Given the description of an element on the screen output the (x, y) to click on. 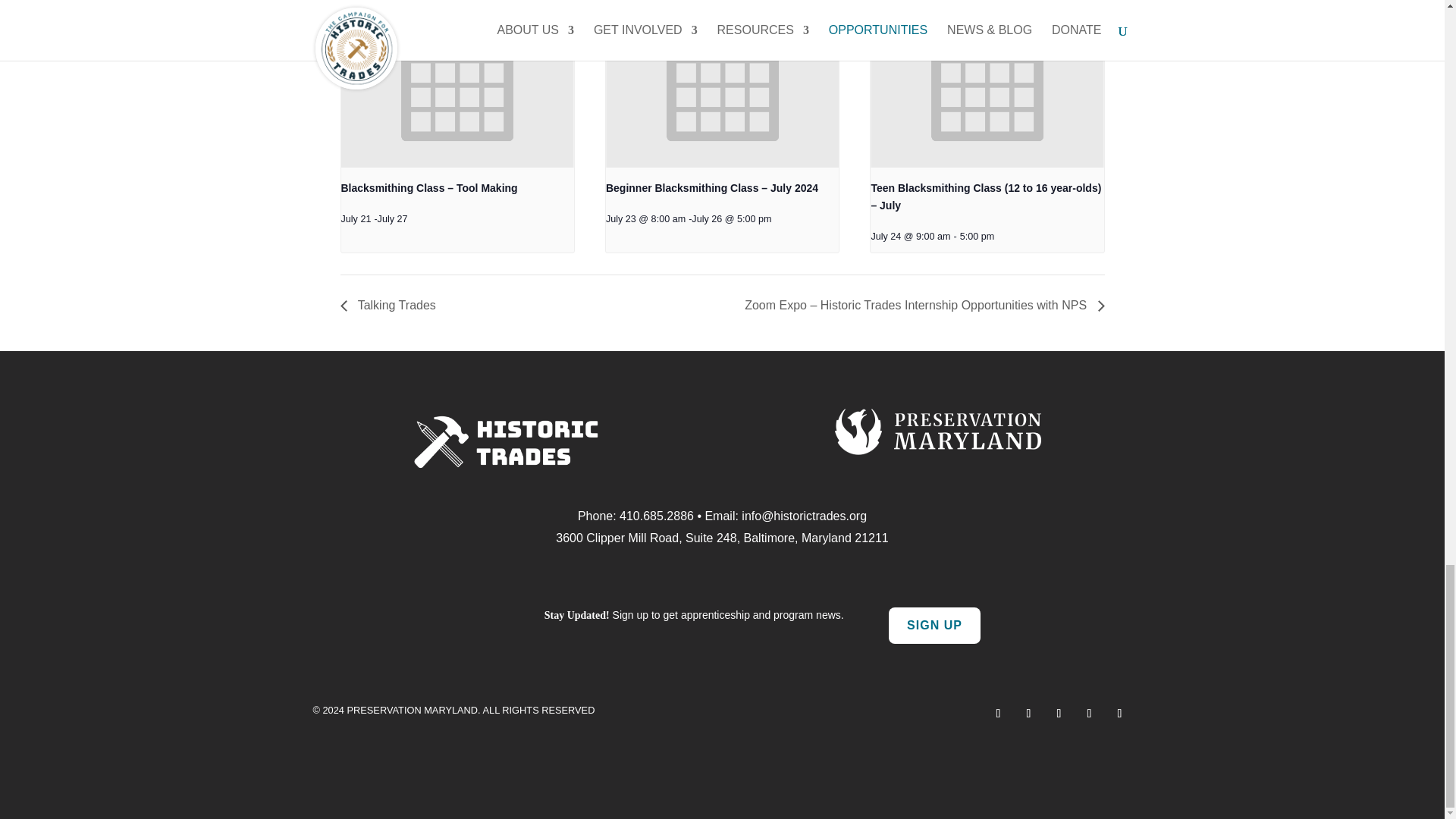
Follow on Youtube (1118, 713)
Follow on Facebook (1088, 713)
Follow on TikTok (1058, 713)
Follow on Instagram (1028, 713)
Follow on X (997, 713)
